Given the description of an element on the screen output the (x, y) to click on. 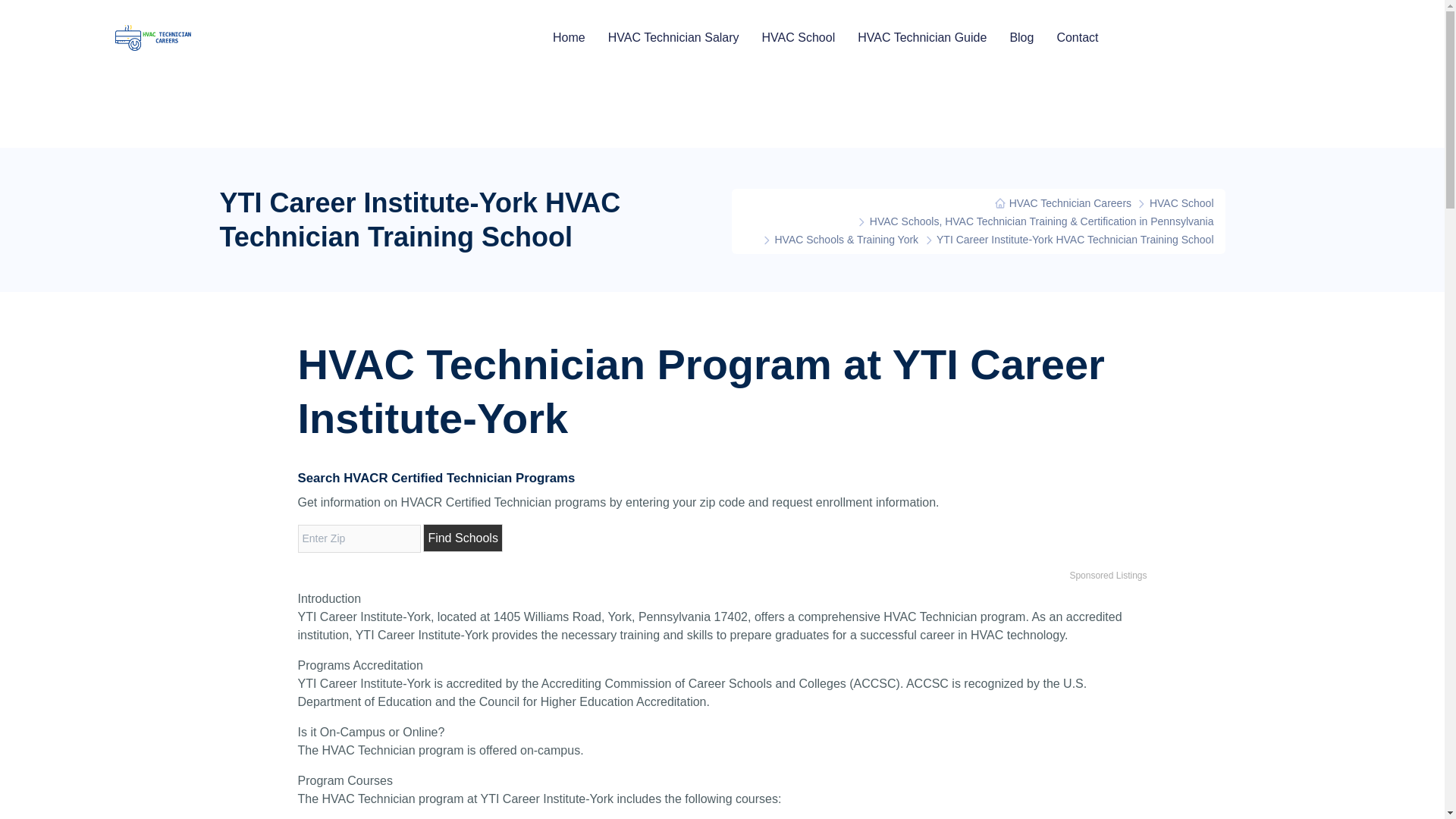
Home (569, 37)
HVAC Technician Salary (673, 37)
Go to HVAC School. (1182, 203)
Blog (1021, 37)
Find Schools (462, 538)
Contact (1077, 37)
HVAC School (798, 37)
Go to HVAC Technician Careers. (1062, 203)
HVAC Technician Guide (922, 37)
